Given the description of an element on the screen output the (x, y) to click on. 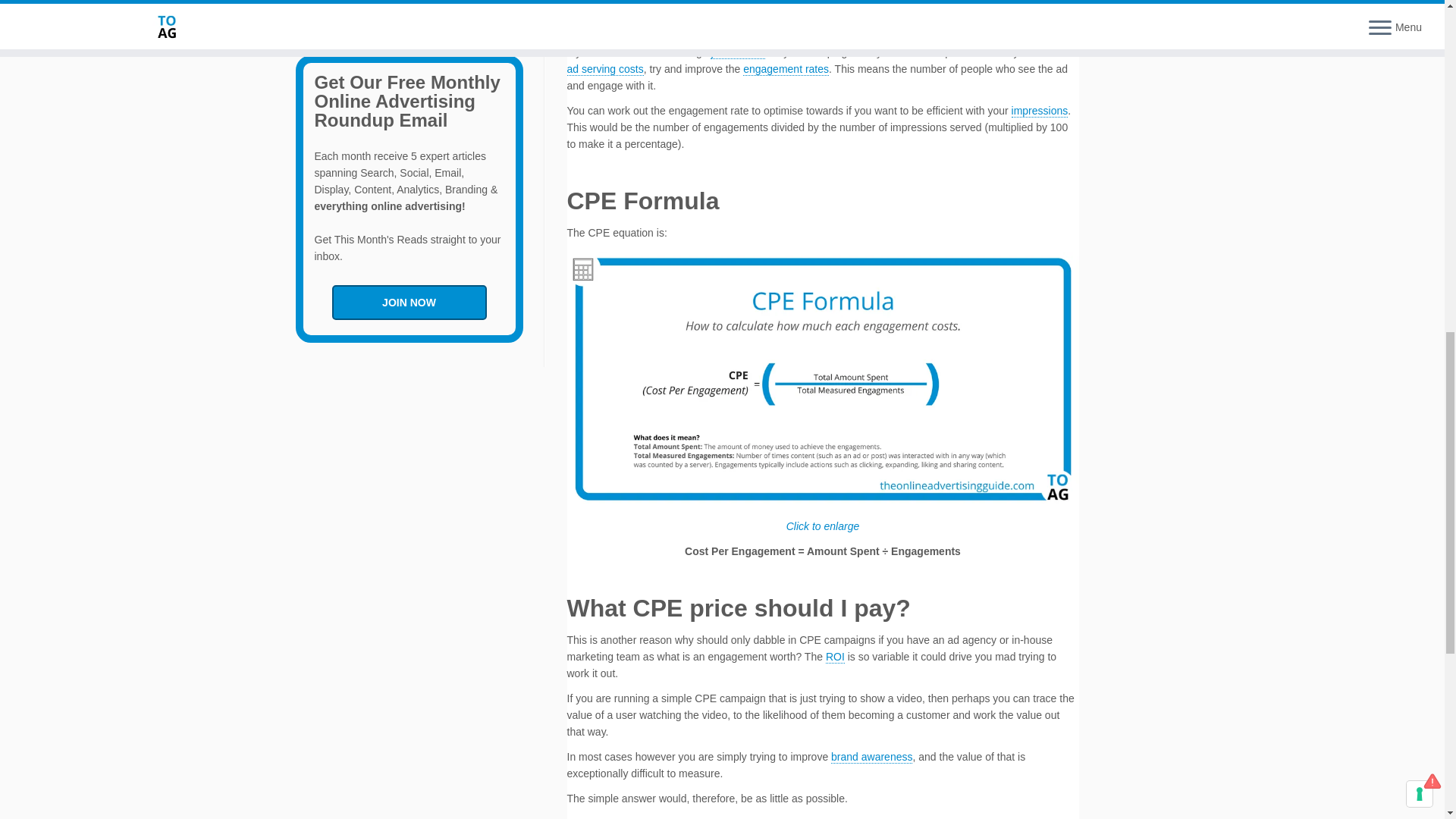
JOIN NOW (408, 302)
Glossary: Impression (1039, 110)
The Ultimate Guide To Advertising Metrics (395, 10)
Glossary: Engagement Rate (785, 69)
Glossary: Placement (737, 51)
Glossary: Ad Serving Costs (605, 69)
